Given the description of an element on the screen output the (x, y) to click on. 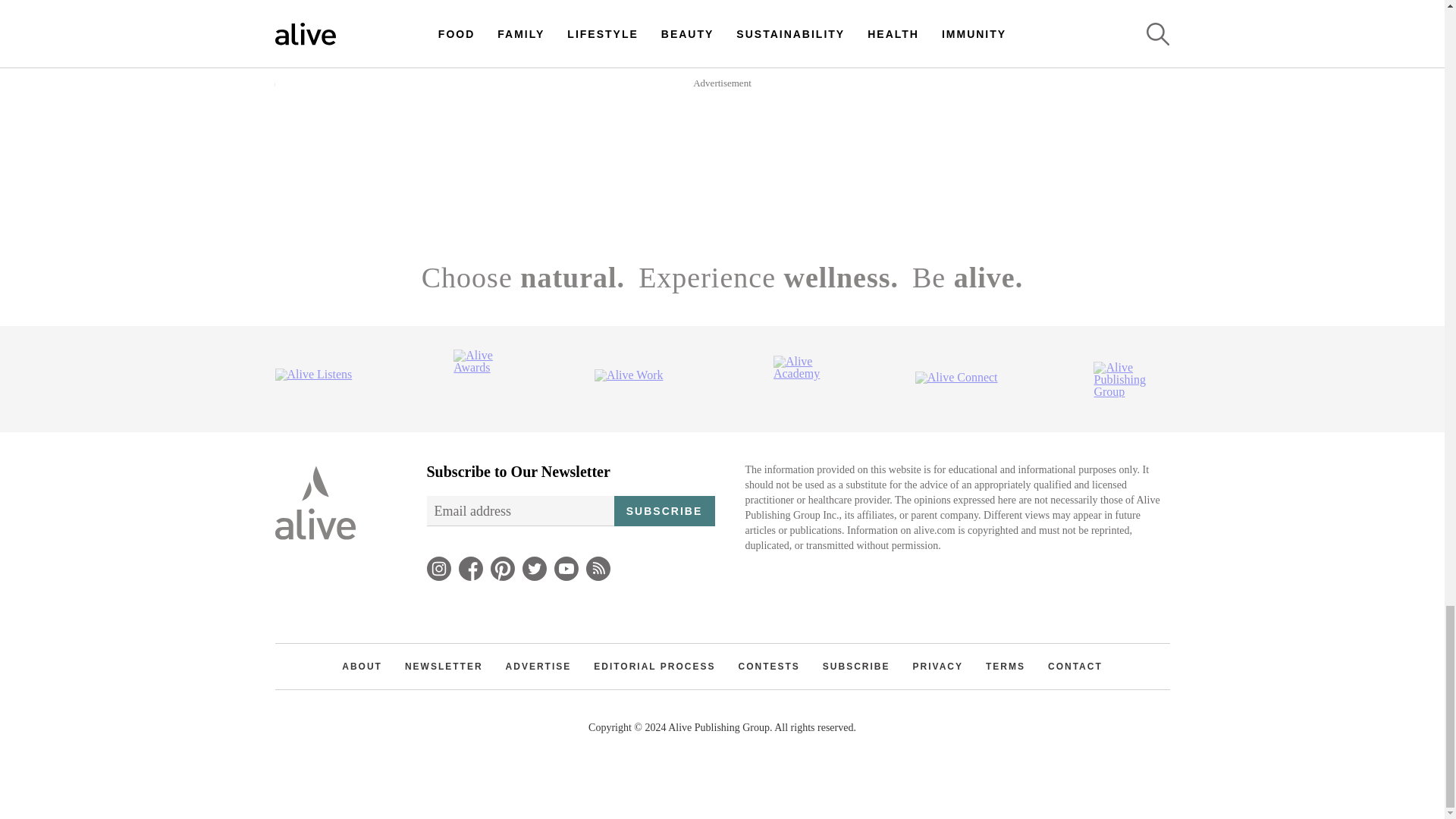
LIFESTYLE (608, 119)
SUSTAINABILITY (541, 60)
HEALTH (1015, 60)
HEALTH (304, 60)
SUBSCRIBE (835, 119)
